Given the description of an element on the screen output the (x, y) to click on. 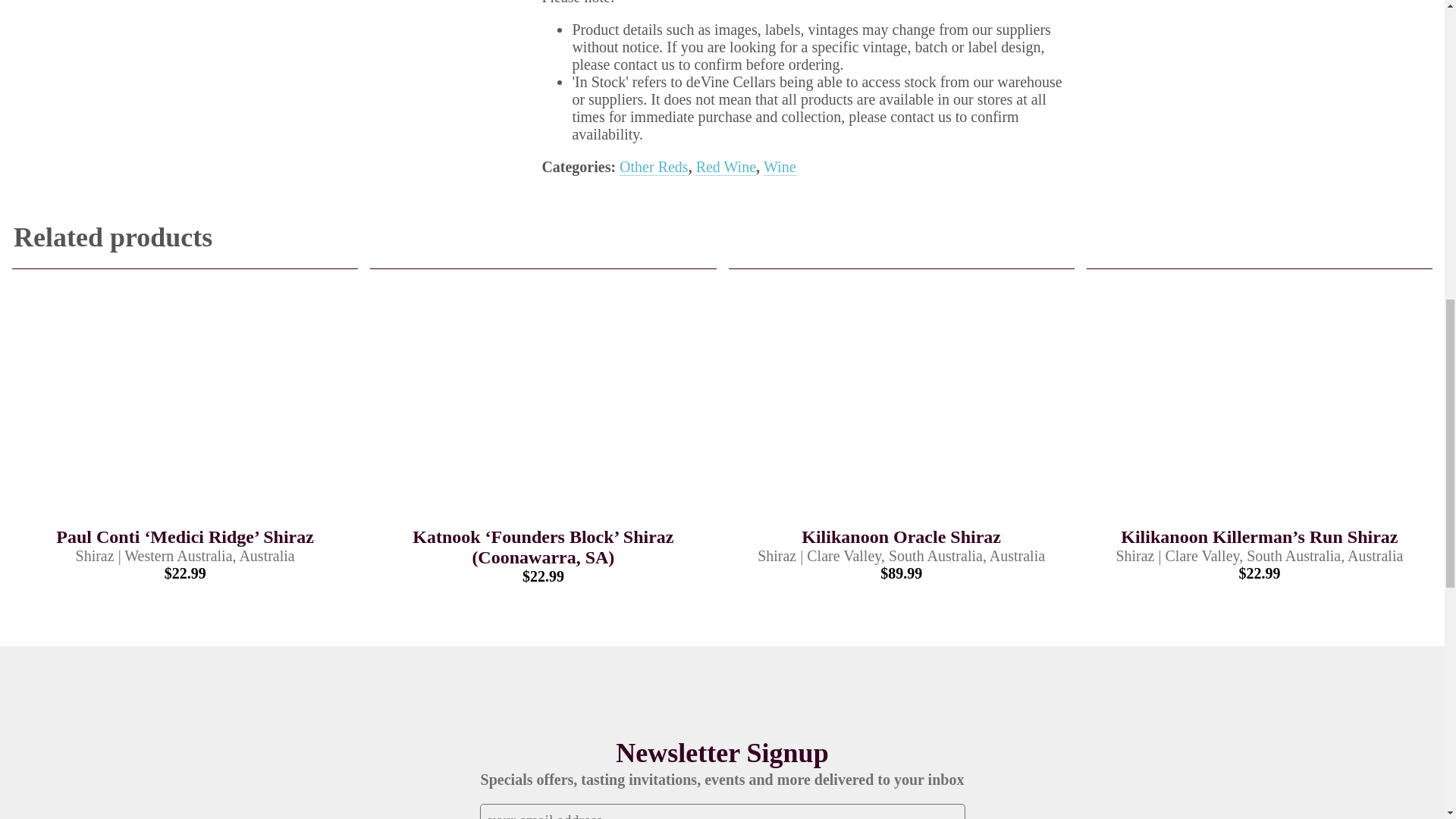
Kilikanoon Killerman's Run Shiraz (1259, 405)
Kilikanoon Oracle Shiraz (900, 405)
Paul Conti 'Medici Ridge' Shiraz (185, 405)
